Given the description of an element on the screen output the (x, y) to click on. 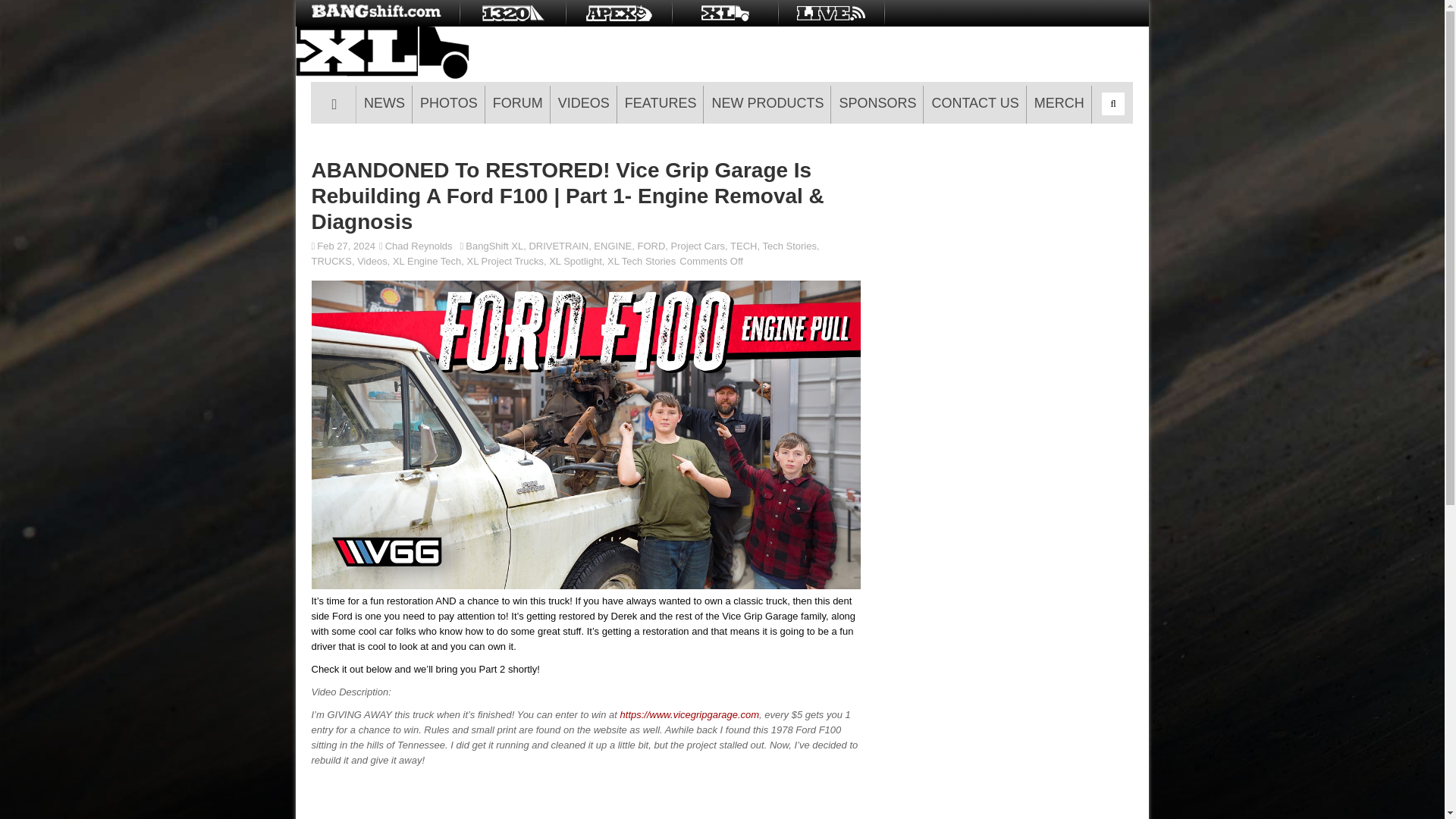
BangShift.com (377, 13)
BangShiftAPEX (618, 13)
LIVE (831, 13)
NEWS (384, 104)
BangShift1320 (512, 13)
BangShiftXL (724, 13)
PHOTOS (448, 104)
Posts by Chad Reynolds (418, 245)
